Given the description of an element on the screen output the (x, y) to click on. 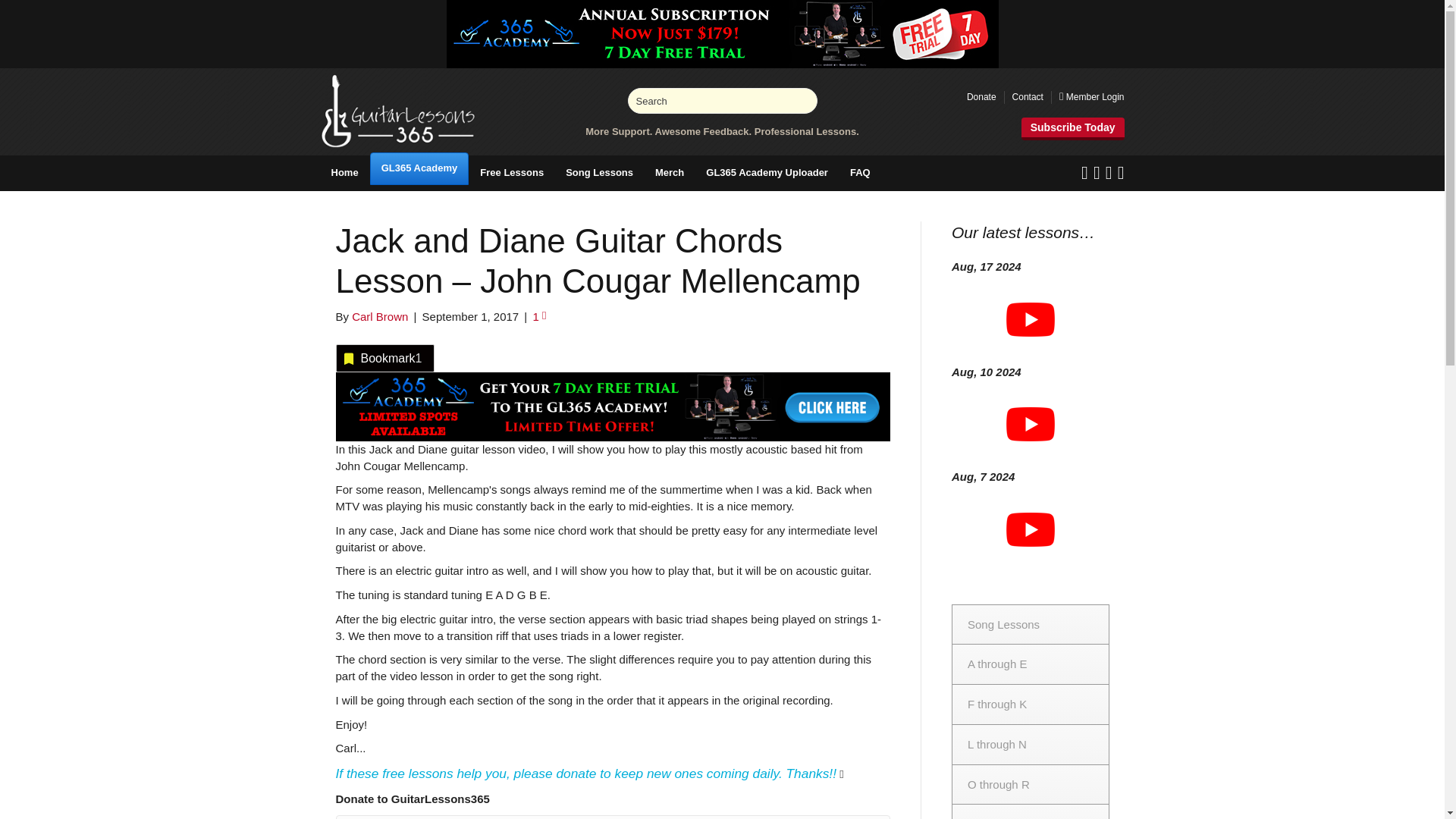
Free Lessons (511, 172)
GL365 Academy Uploader (766, 172)
Type and press Enter to search. (722, 100)
Subscribe Today (1073, 128)
logo-gitara (398, 111)
GL365 Academy (418, 168)
FAQ (860, 172)
Home (344, 172)
Merch (669, 172)
Contact (1027, 97)
